Given the description of an element on the screen output the (x, y) to click on. 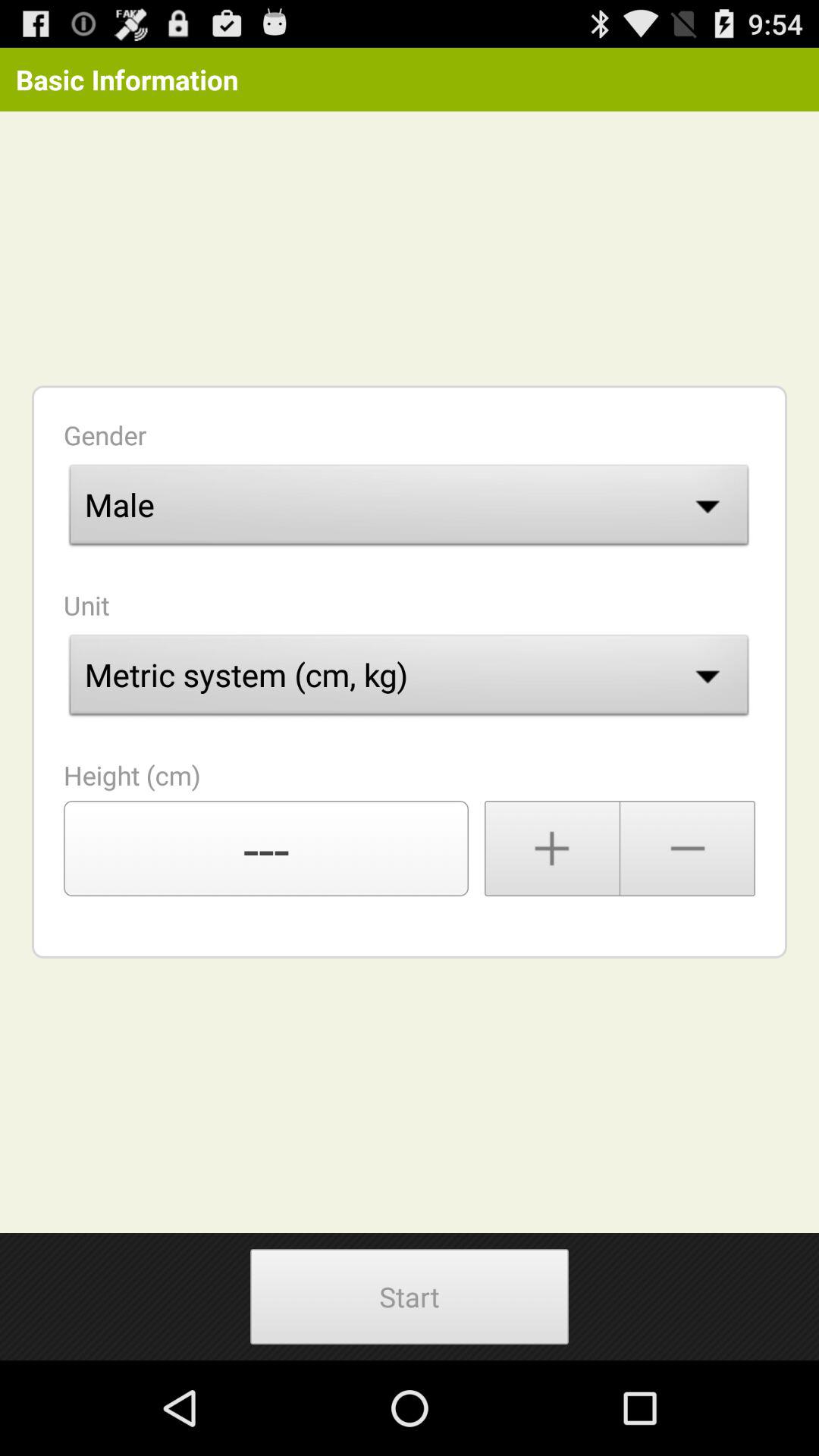
turn on app below --- (409, 1296)
